Given the description of an element on the screen output the (x, y) to click on. 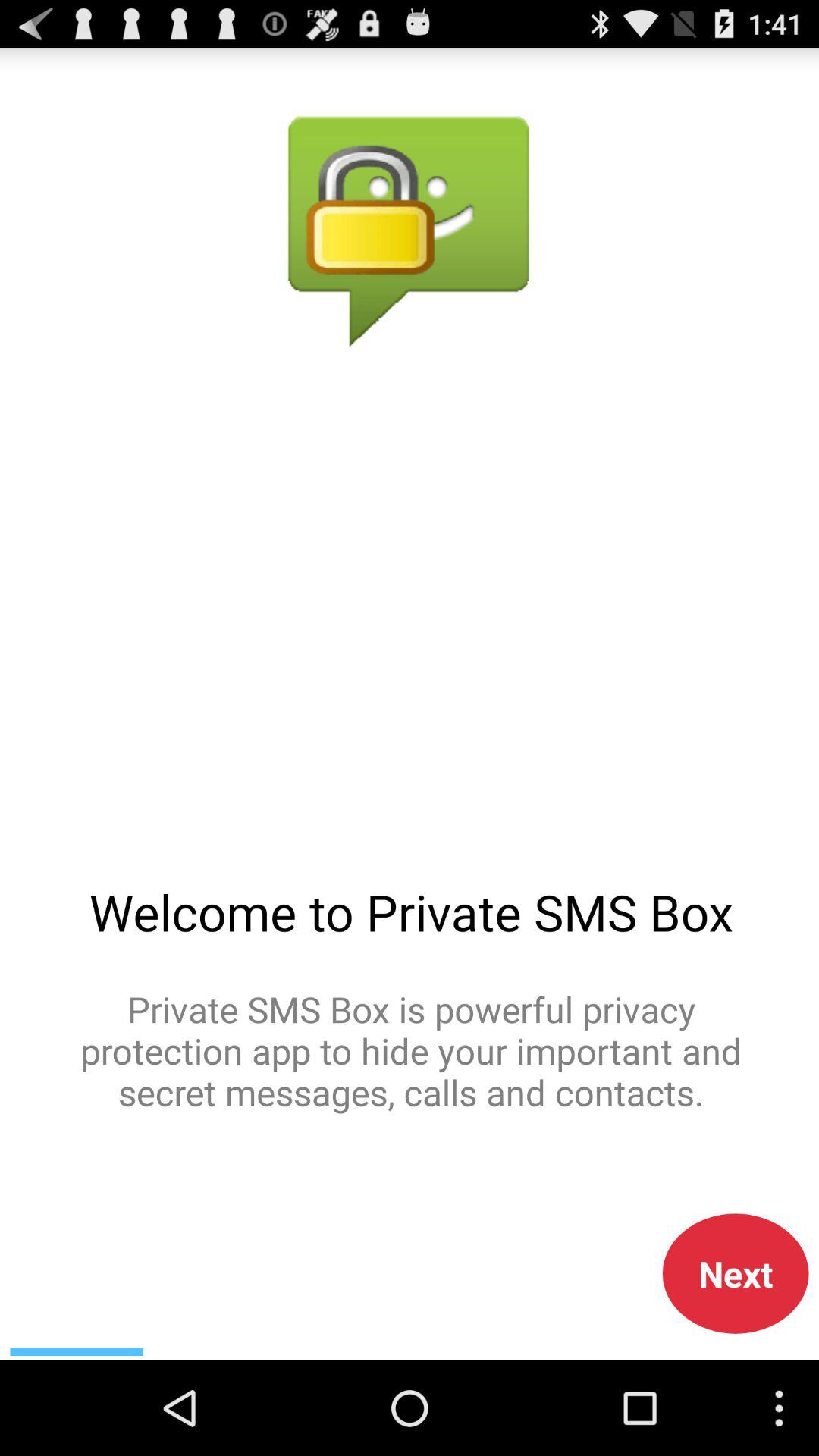
jump until next button (735, 1273)
